Given the description of an element on the screen output the (x, y) to click on. 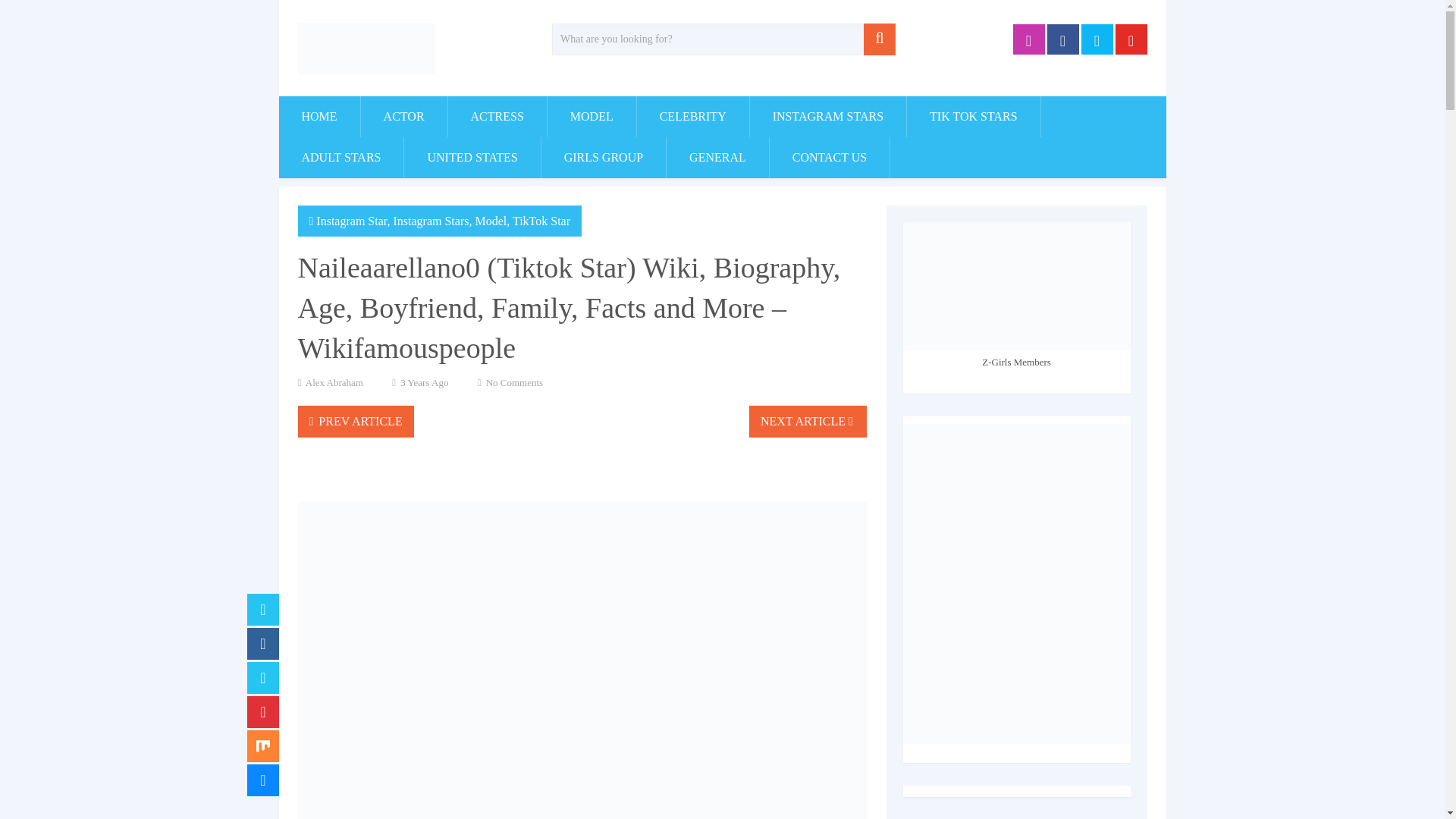
GENERAL (717, 157)
INSTAGRAM STARS (827, 116)
TikTok Star (541, 220)
View all posts in Instagram Stars (430, 220)
View all posts in Instagram Star (351, 220)
Posts by Alex Abraham (333, 382)
CELEBRITY (693, 116)
ACTOR (403, 116)
ACTRESS (497, 116)
Alex Abraham (333, 382)
